Given the description of an element on the screen output the (x, y) to click on. 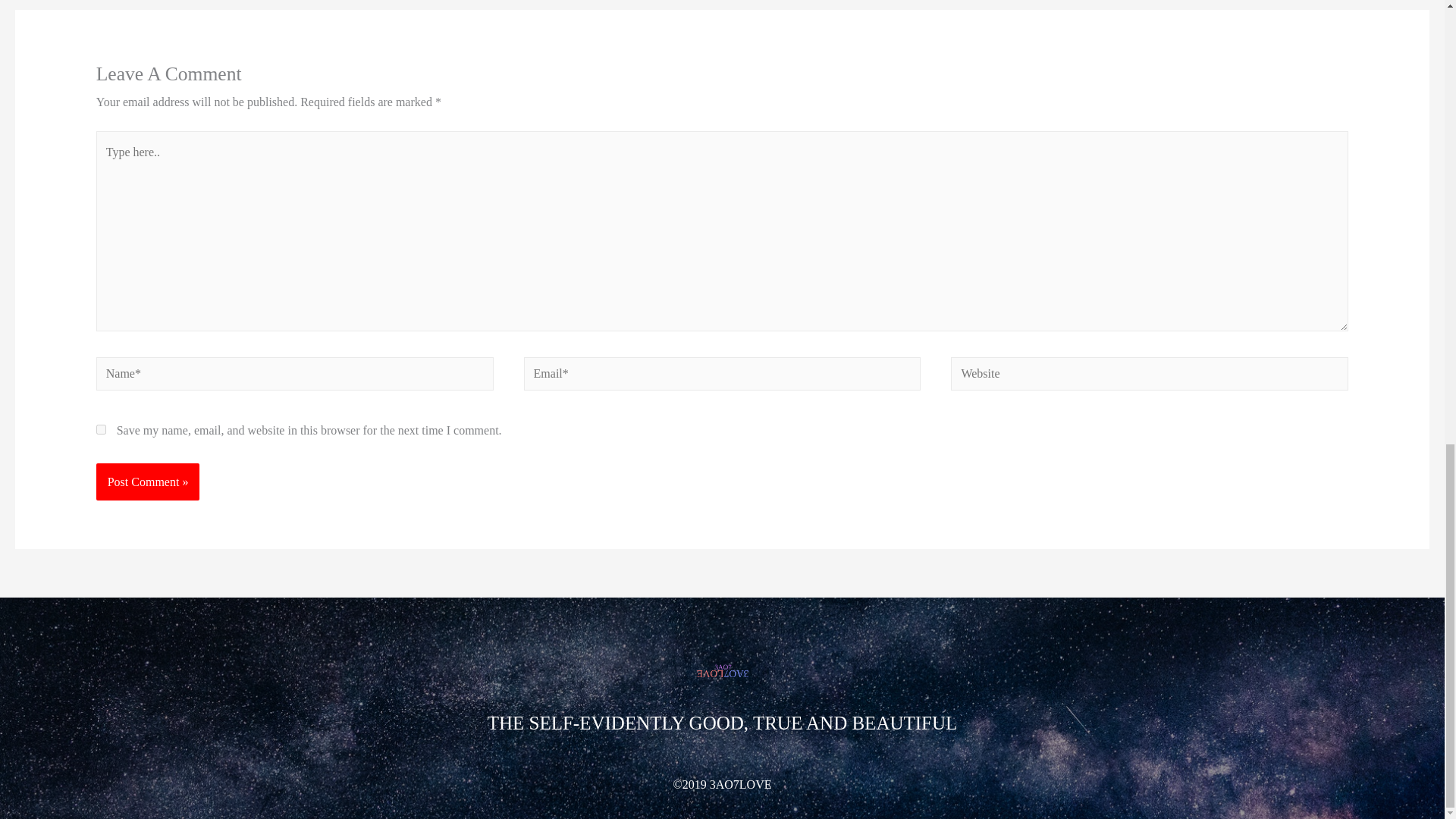
yes (101, 429)
